Given the description of an element on the screen output the (x, y) to click on. 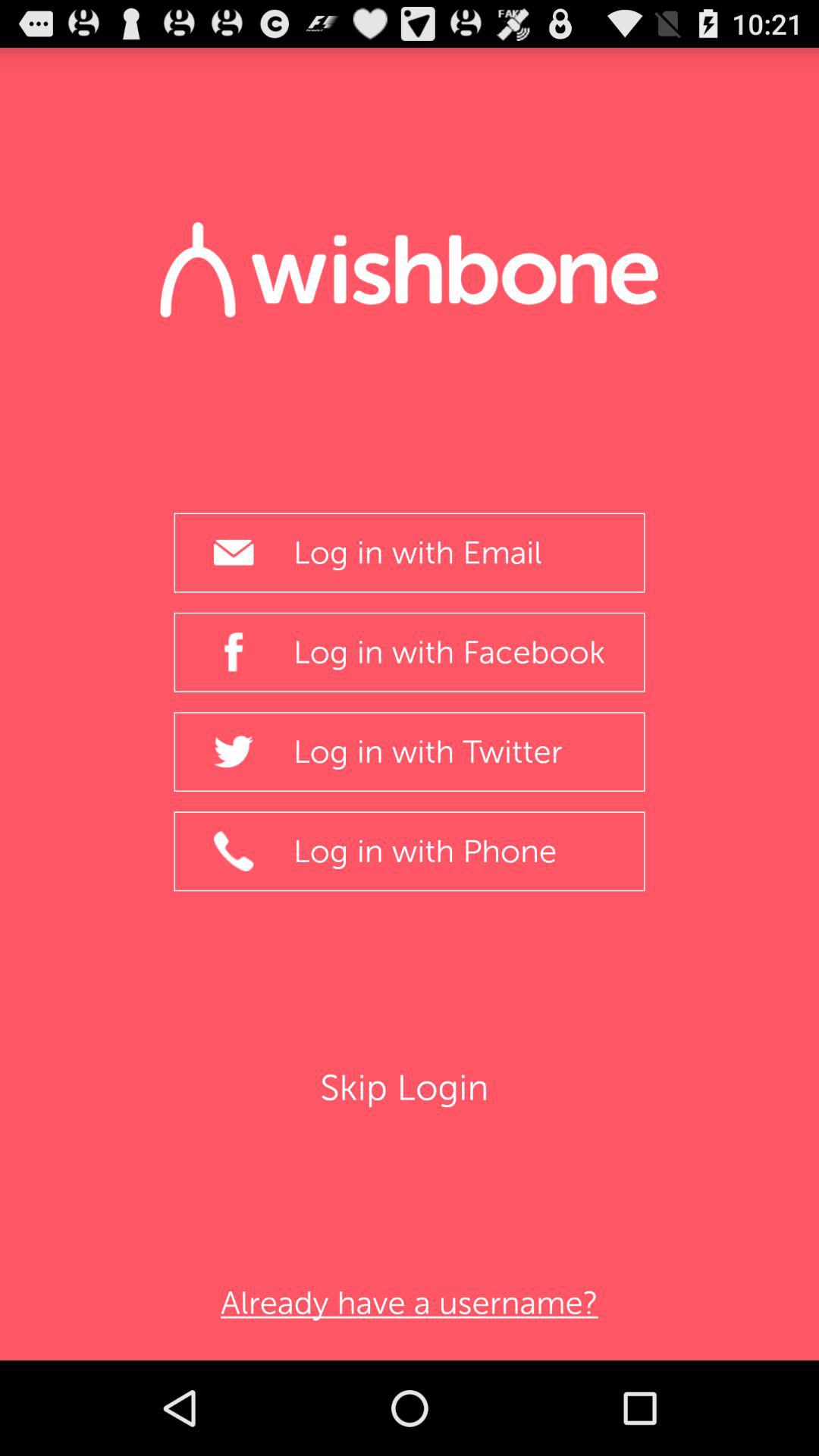
launch skip login (409, 1087)
